Given the description of an element on the screen output the (x, y) to click on. 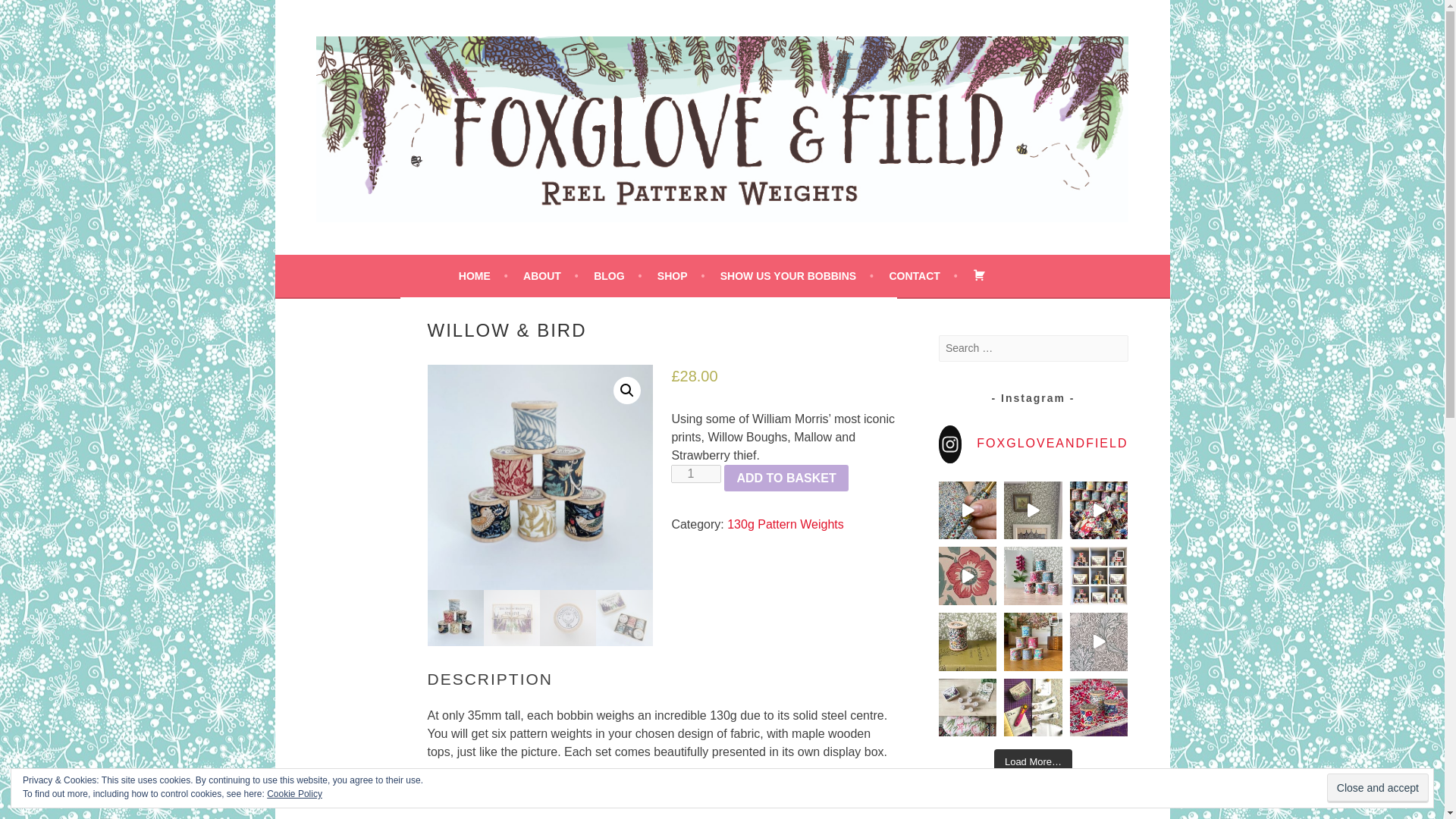
130g Pattern Weights (785, 523)
BLOG (618, 275)
ADD TO BASKET (785, 478)
SHOW US YOUR BOBBINS (796, 275)
1 (695, 474)
HOME (483, 275)
47F9B5C4-2DF1-4E58-A9DB-D4AE79C61DB1 (540, 476)
ABOUT (550, 275)
BASKET (978, 275)
SHOP (681, 275)
CONTACT (922, 275)
Close and accept (1377, 788)
